Given the description of an element on the screen output the (x, y) to click on. 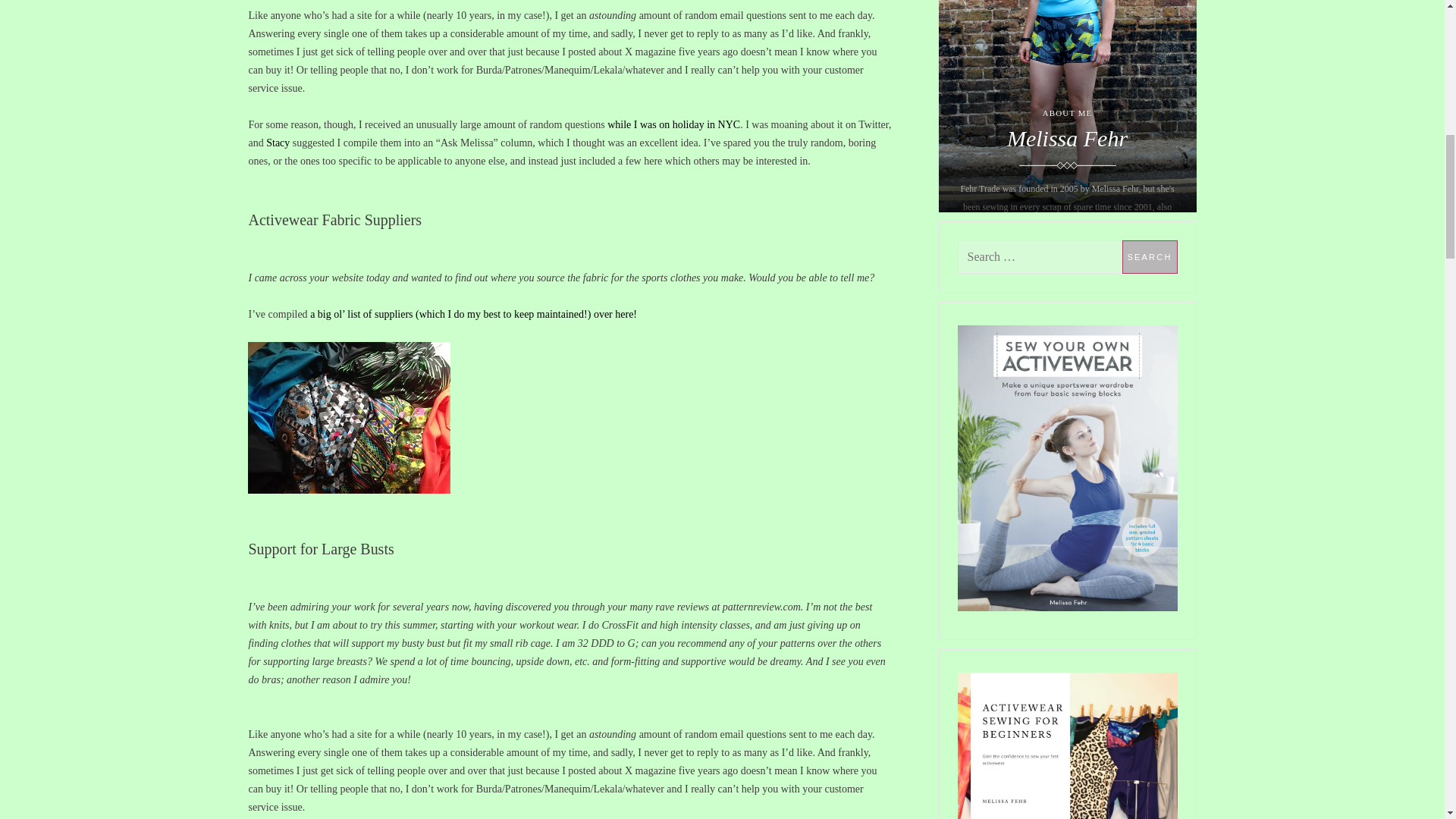
Search (1149, 256)
Stacy (277, 142)
Search (1149, 256)
while I was on holiday in NYC (673, 124)
